Given the description of an element on the screen output the (x, y) to click on. 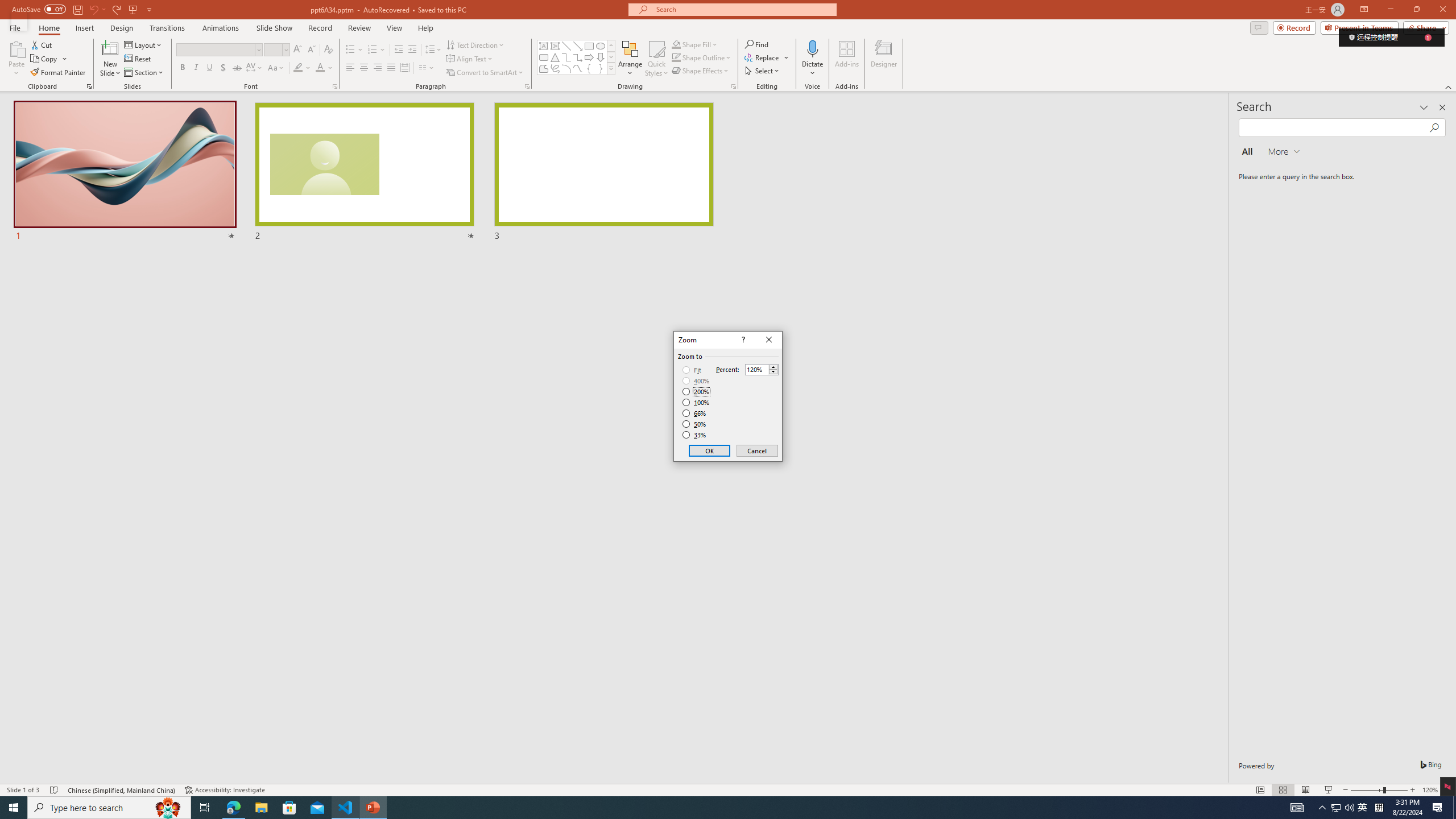
66% (694, 412)
Align Right (377, 67)
Arrow: Right (589, 57)
Reset (1362, 807)
File Explorer (138, 58)
33% (261, 807)
Font... (694, 434)
AutomationID: 4105 (334, 85)
Notification Chevron (1297, 807)
